Given the description of an element on the screen output the (x, y) to click on. 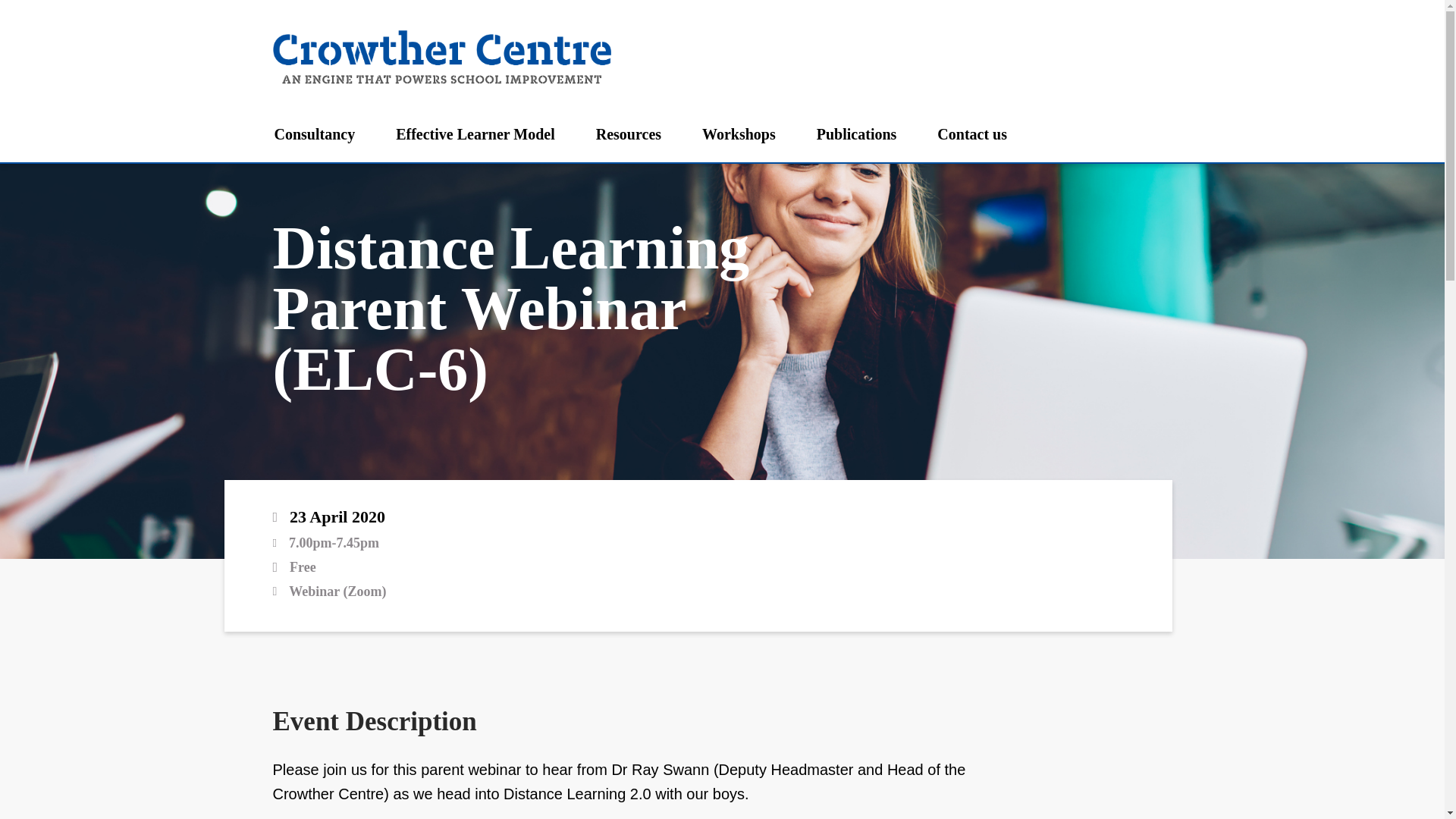
Contact us (972, 134)
Publications (856, 134)
Consultancy (315, 134)
Resources (628, 134)
Workshops (738, 134)
Effective Learner Model (475, 134)
